Given the description of an element on the screen output the (x, y) to click on. 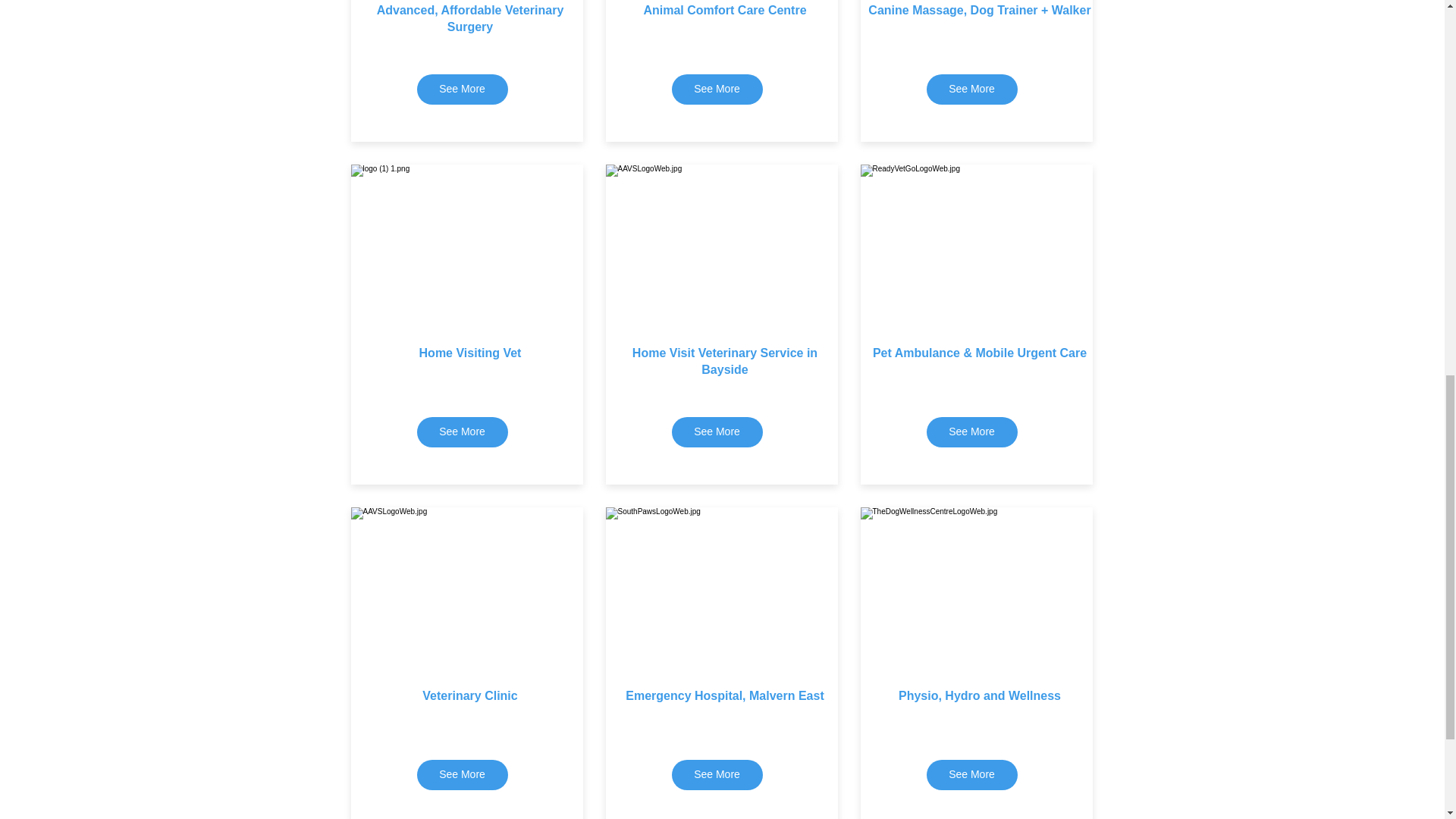
See More (971, 431)
See More (462, 431)
See More (462, 775)
See More (716, 431)
See More (971, 89)
See More (716, 89)
See More (462, 89)
See More (716, 775)
See More (971, 775)
